Given the description of an element on the screen output the (x, y) to click on. 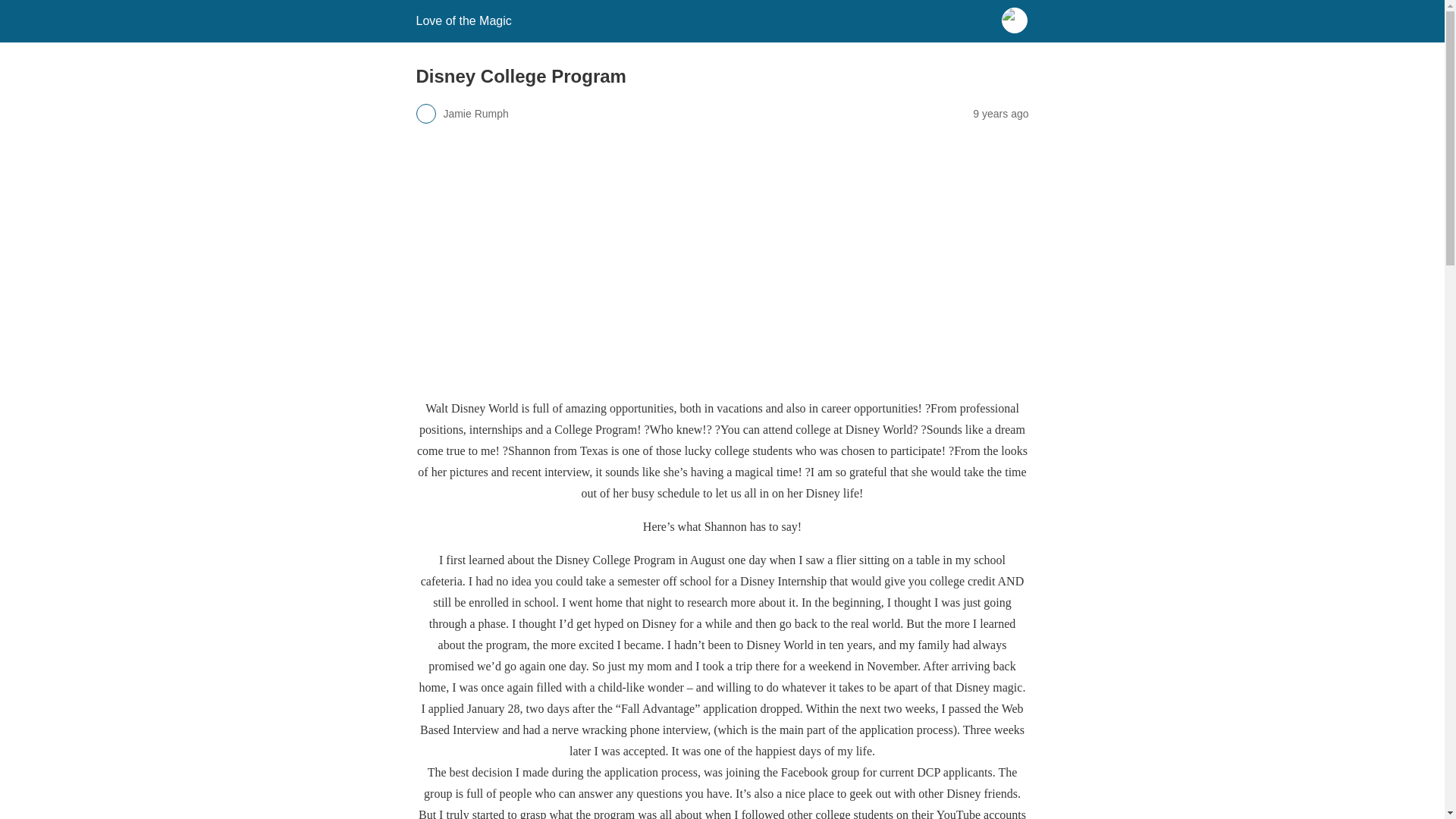
Love of the Magic (462, 20)
